Given the description of an element on the screen output the (x, y) to click on. 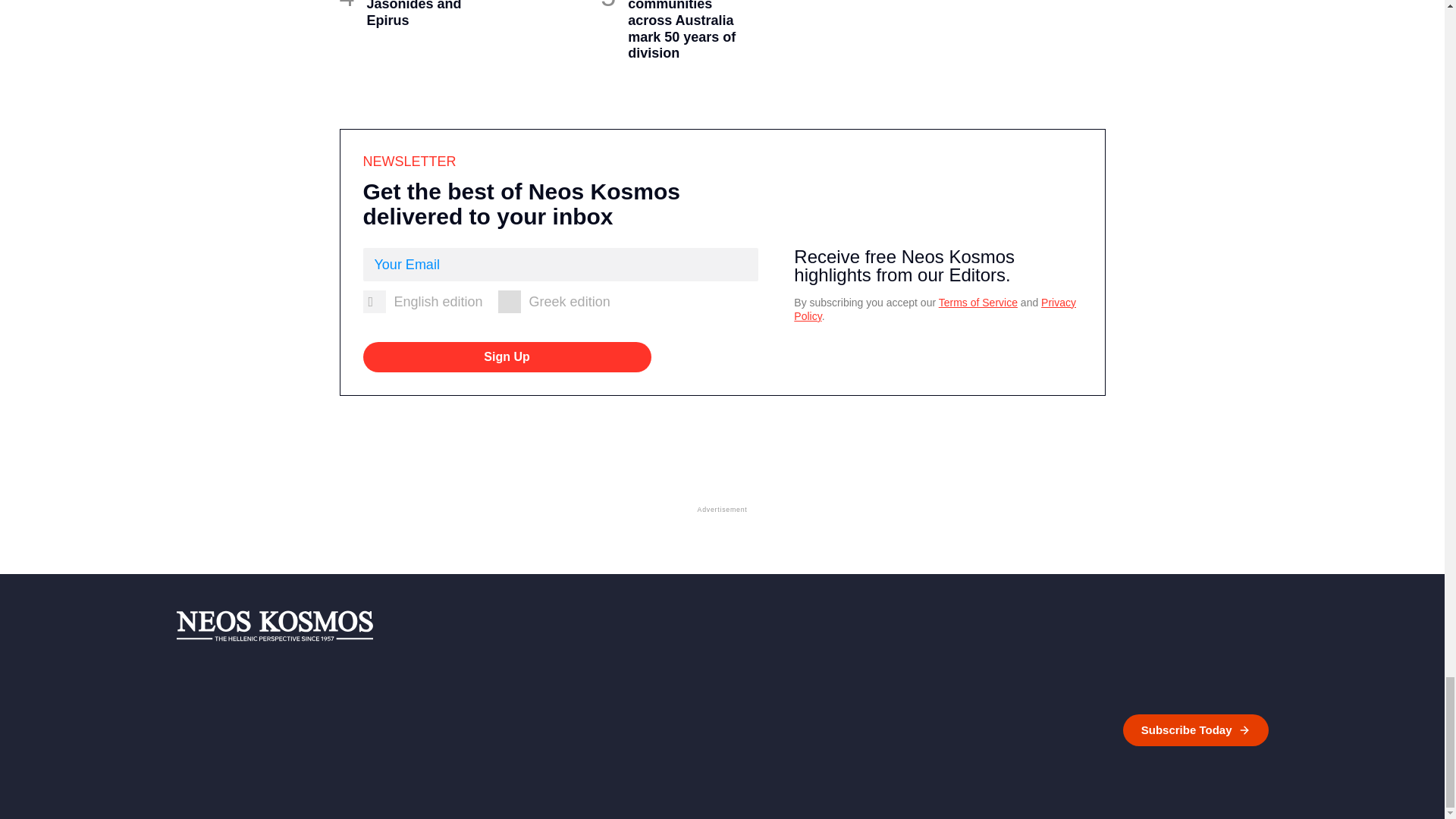
Sign Up (506, 357)
